Given the description of an element on the screen output the (x, y) to click on. 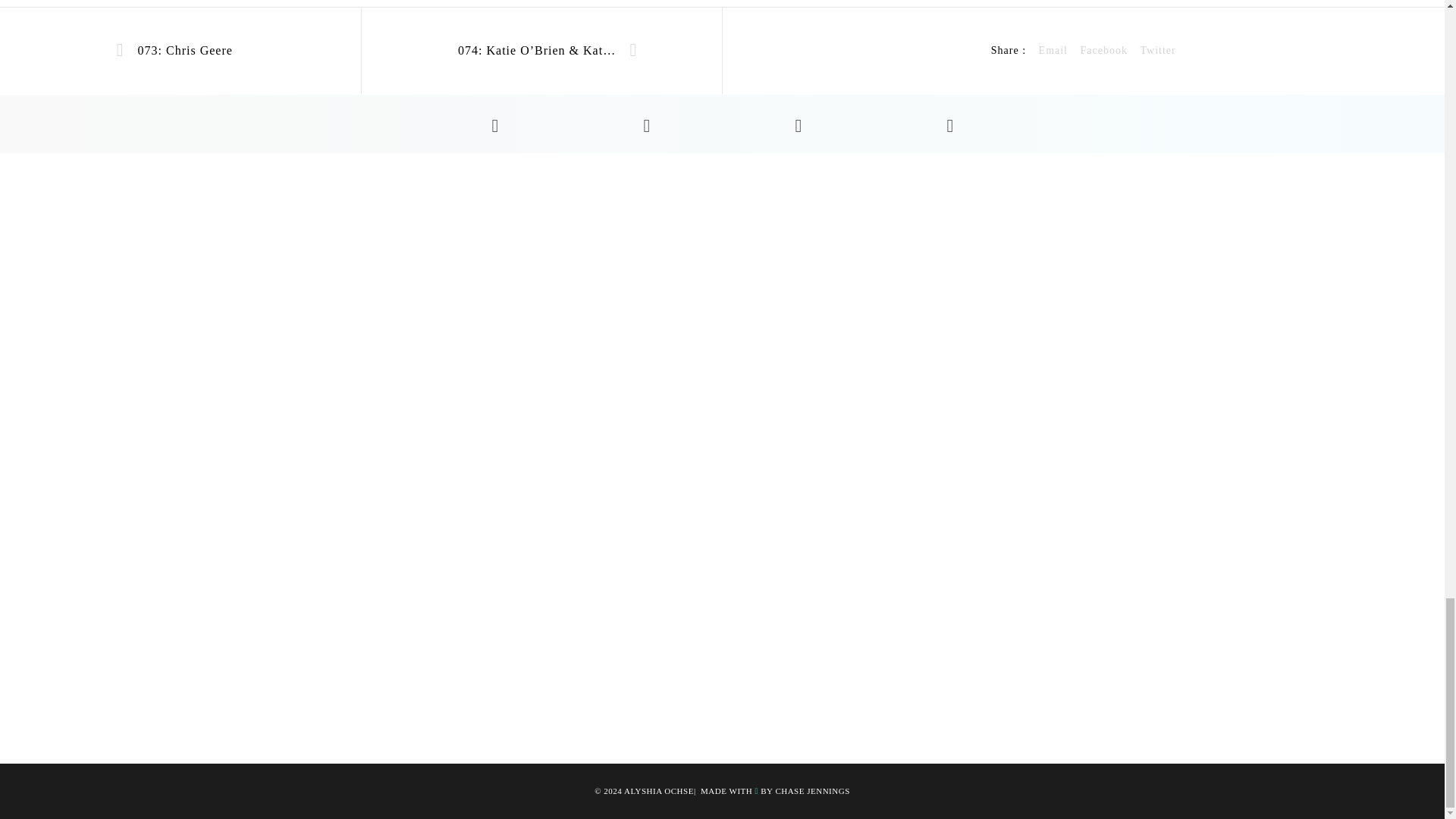
BONUS: Tony Giglio (1103, 50)
BONUS: Tony Giglio (1053, 50)
BONUS: Tony Giglio (1157, 50)
